Given the description of an element on the screen output the (x, y) to click on. 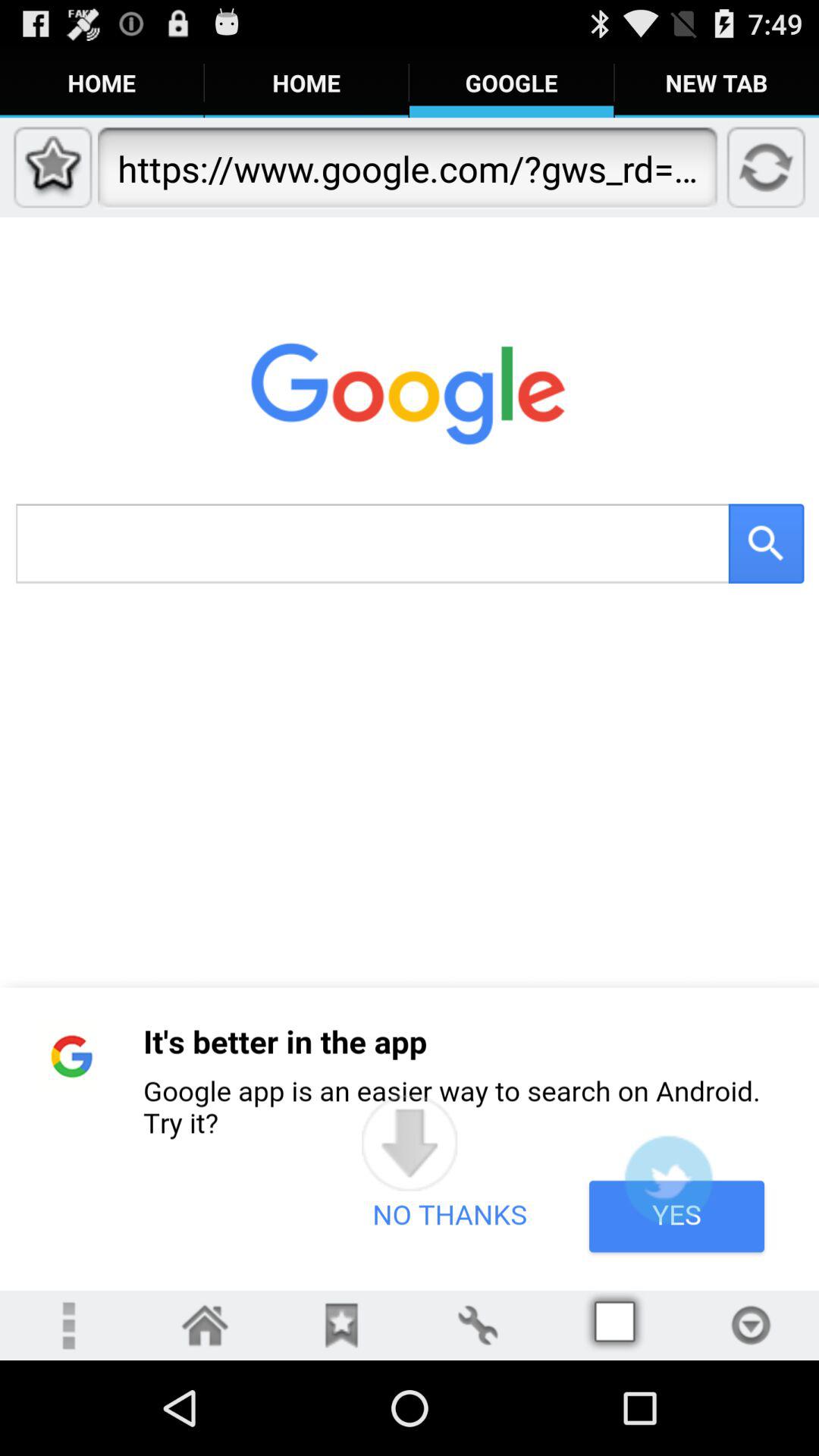
select the tab google on the web page (511, 82)
click the settings button on the web page (477, 1324)
the fifth icon from right at the bottom of the page (614, 1324)
click the button on the left to the settings button on the web page (340, 1324)
select the tab home on the web page (306, 82)
